Given the description of an element on the screen output the (x, y) to click on. 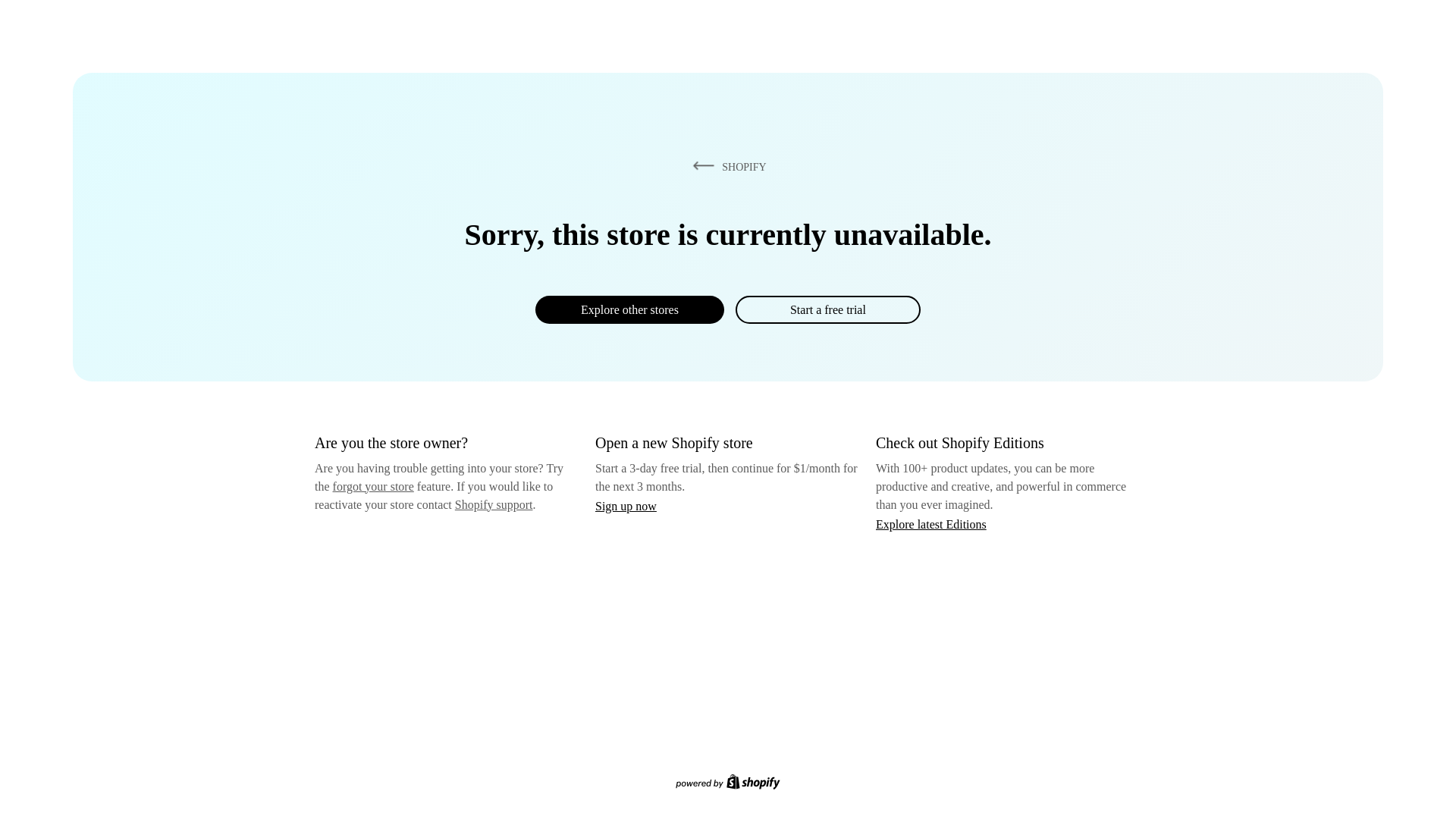
Explore latest Editions (931, 523)
Start a free trial (827, 309)
Explore other stores (629, 309)
SHOPIFY (726, 166)
Sign up now (625, 505)
Shopify support (493, 504)
forgot your store (373, 486)
